Given the description of an element on the screen output the (x, y) to click on. 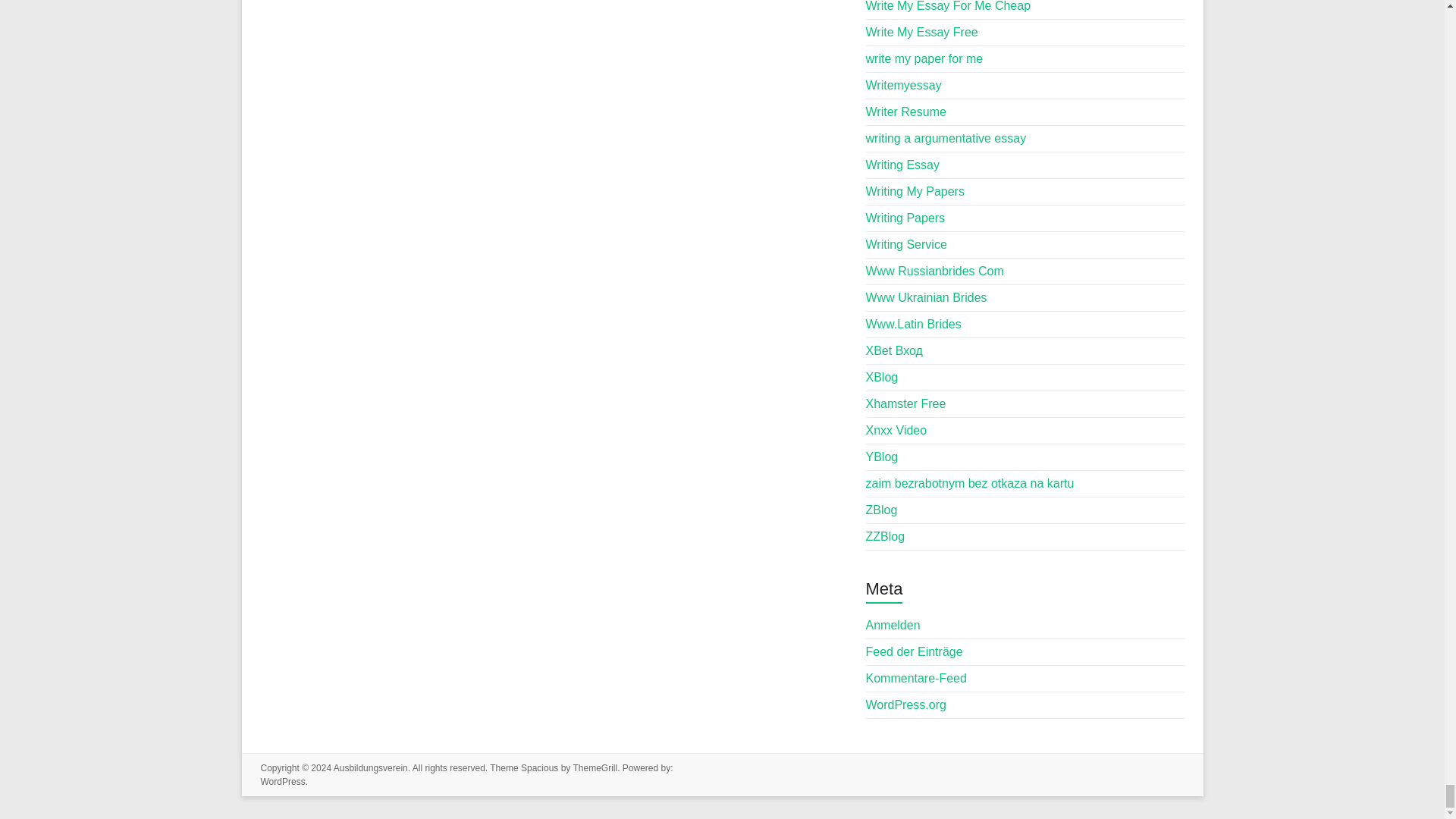
WordPress (282, 781)
Spacious (539, 767)
Ausbildungsverein (370, 767)
